Given the description of an element on the screen output the (x, y) to click on. 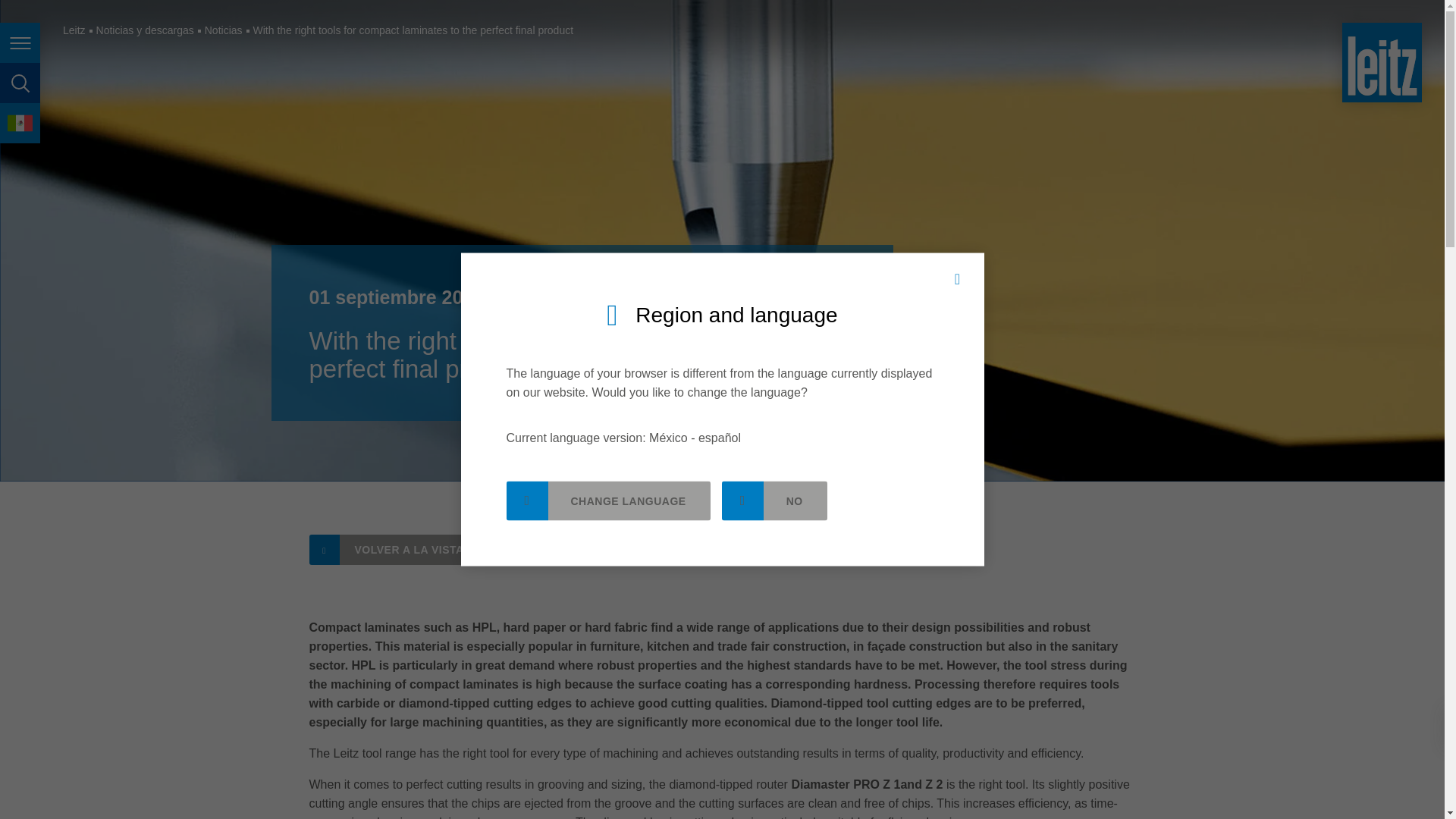
page search (20, 83)
Page navigation (20, 42)
language (20, 123)
language (20, 123)
Page navigation (20, 42)
page search (20, 83)
